Given the description of an element on the screen output the (x, y) to click on. 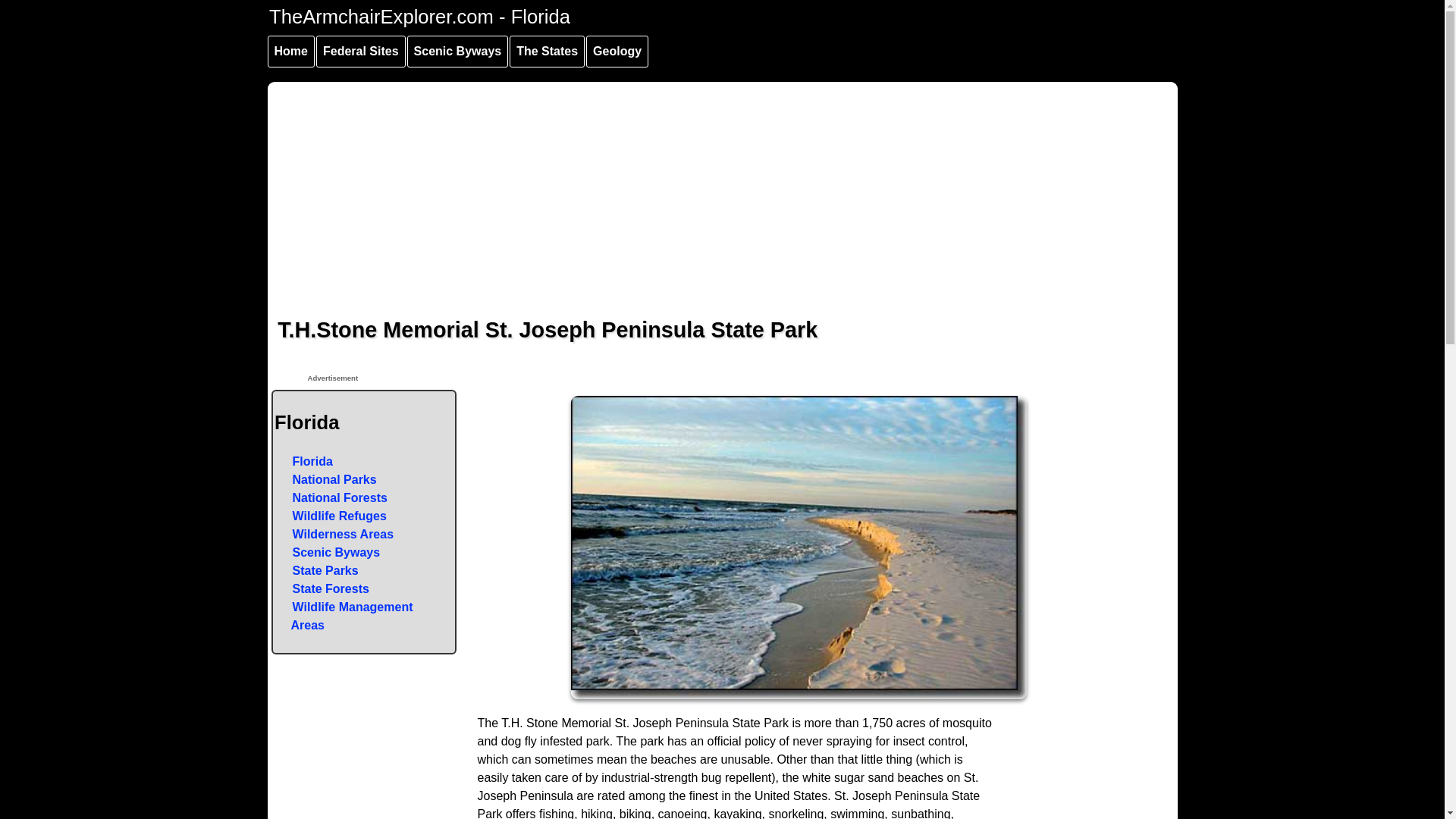
Home (290, 51)
Skip to main content (290, 2)
Skip to main navigation (298, 2)
The States (547, 51)
Federal Sites (360, 51)
Scenic Byways (457, 51)
